Given the description of an element on the screen output the (x, y) to click on. 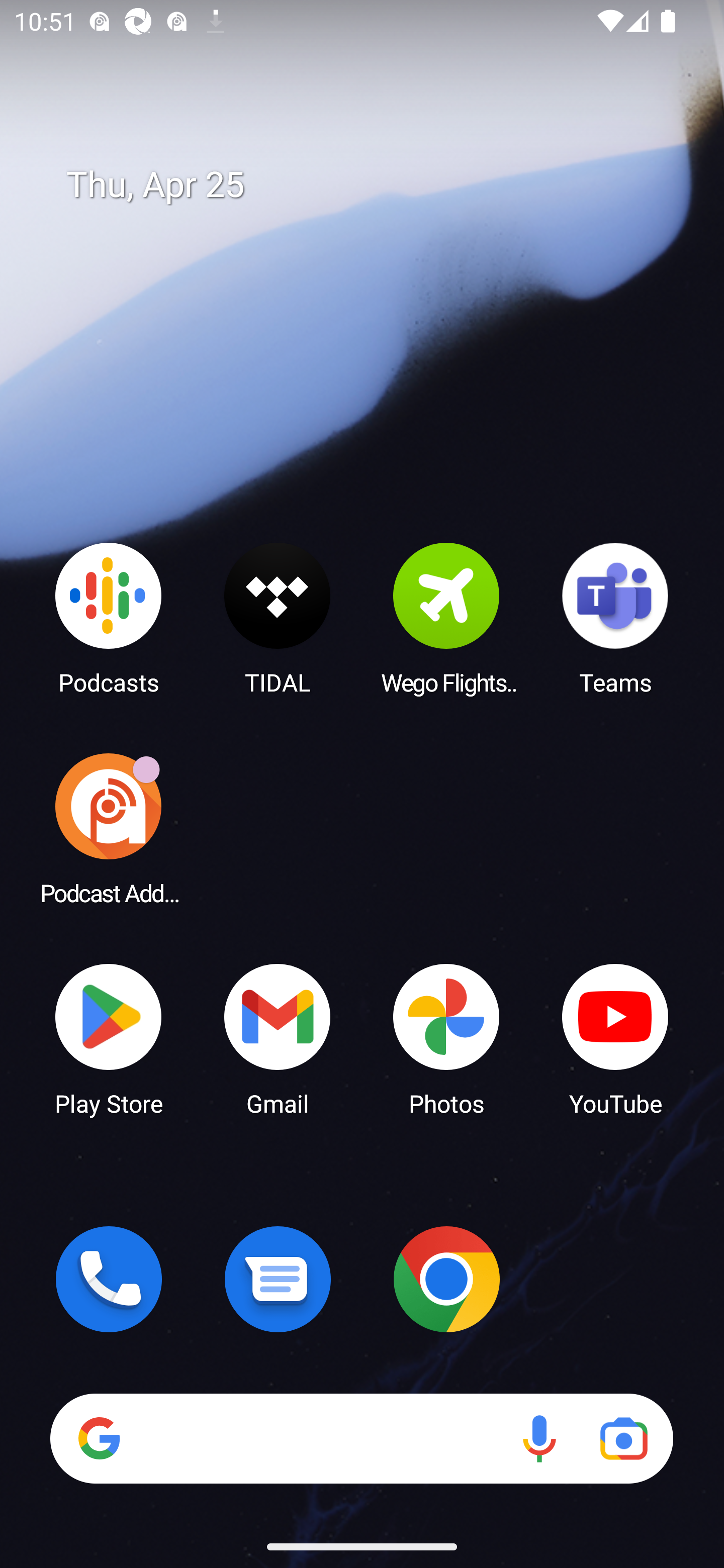
Thu, Apr 25 (375, 184)
Podcasts (108, 617)
TIDAL (277, 617)
Wego Flights & Hotels (445, 617)
Teams (615, 617)
Play Store (108, 1038)
Gmail (277, 1038)
Photos (445, 1038)
YouTube (615, 1038)
Phone (108, 1279)
Messages (277, 1279)
Chrome (446, 1279)
Search Voice search Google Lens (361, 1438)
Voice search (539, 1438)
Google Lens (623, 1438)
